Given the description of an element on the screen output the (x, y) to click on. 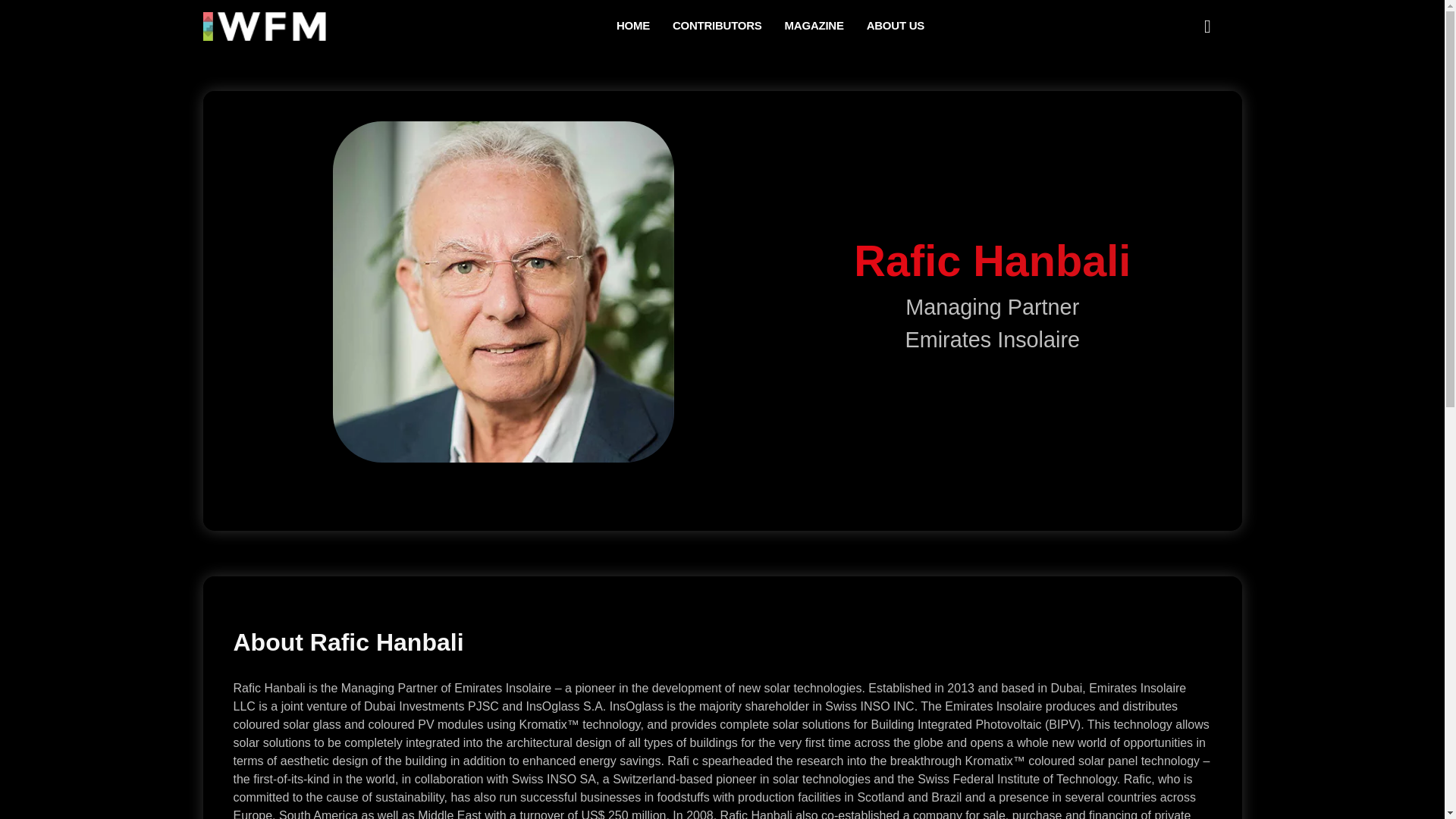
MAGAZINE (814, 26)
ABOUT US (895, 26)
HOME (633, 26)
CONTRIBUTORS (717, 26)
